Given the description of an element on the screen output the (x, y) to click on. 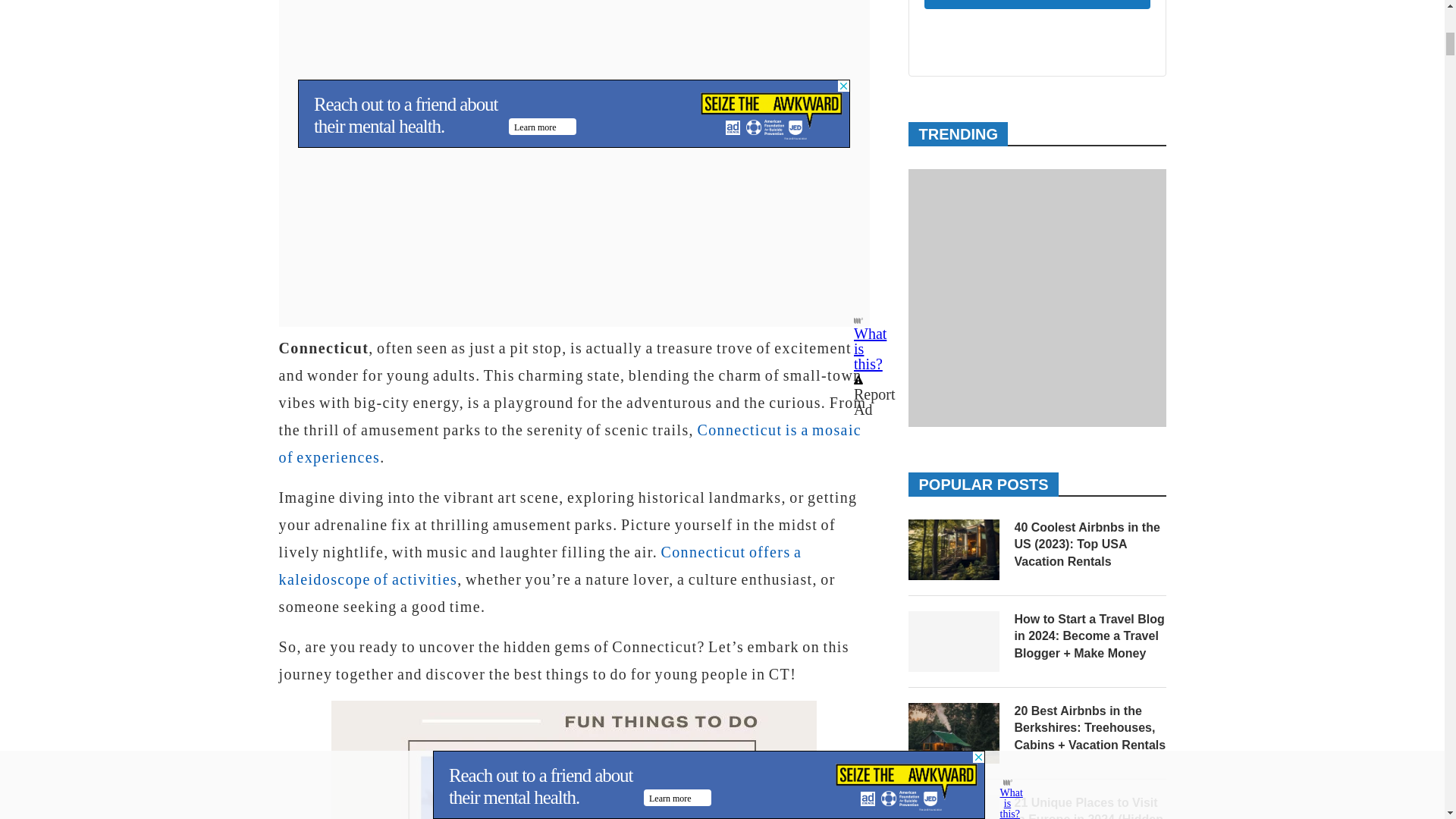
3rd party ad content (574, 30)
